Given the description of an element on the screen output the (x, y) to click on. 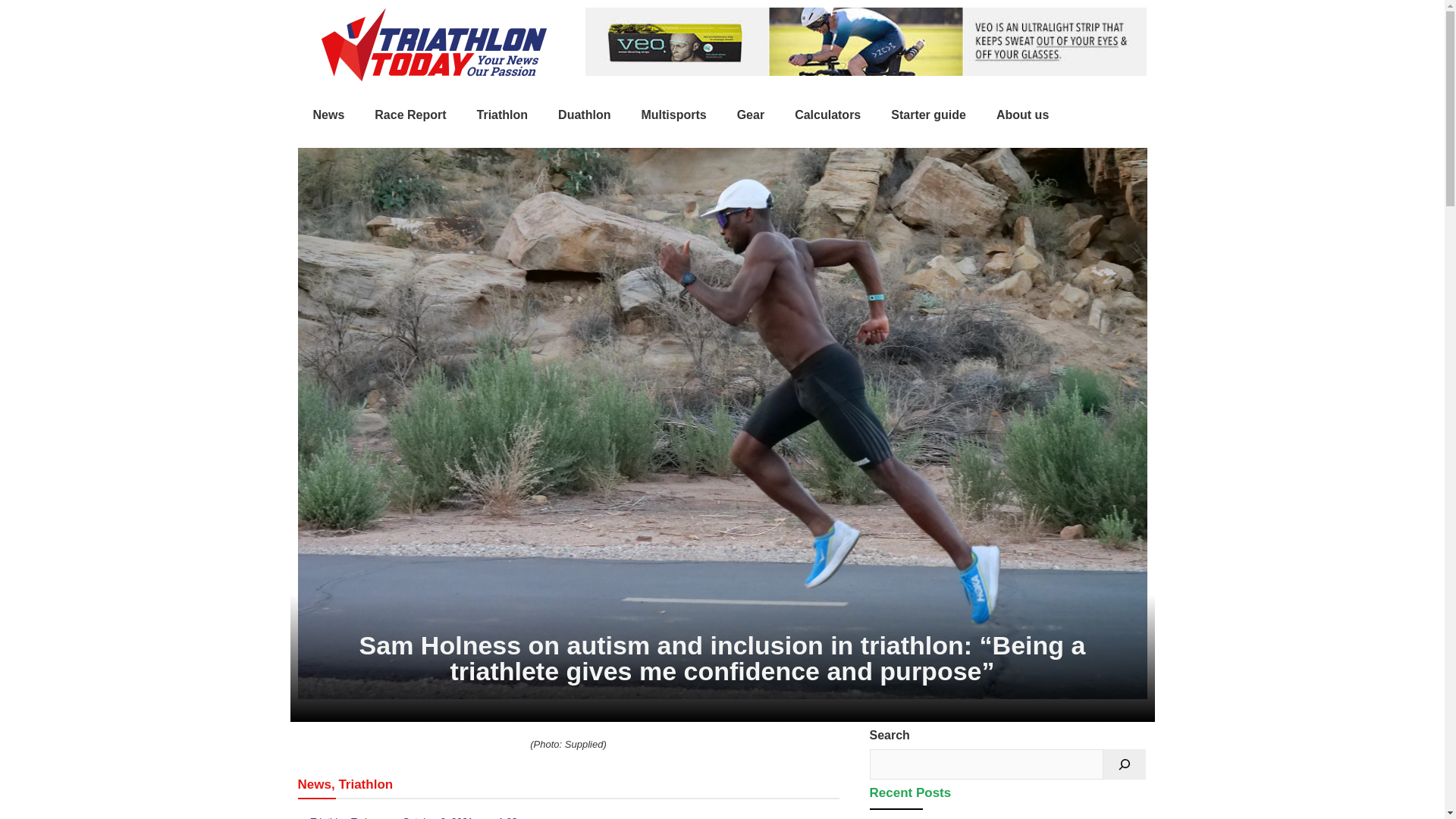
News (328, 114)
Calculators (827, 114)
Triathlon Today (337, 816)
Triathlon (502, 114)
News (313, 783)
Gear (750, 114)
October 6, 2021 (431, 816)
About us (1022, 114)
Starter guide (928, 114)
Duathlon (584, 114)
